Given the description of an element on the screen output the (x, y) to click on. 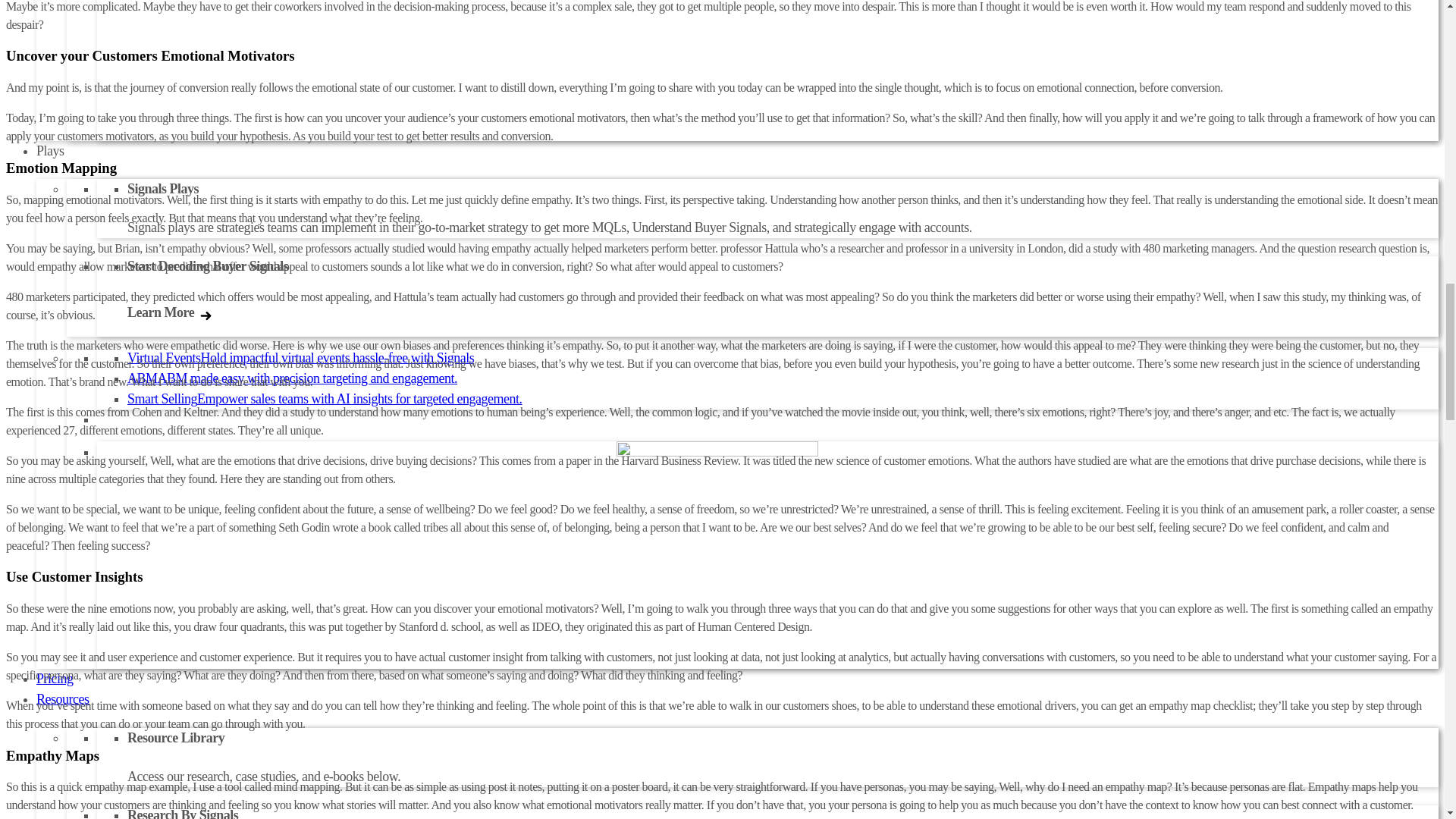
Resources (62, 698)
Plays (50, 150)
ABMABM made easy with precision targeting and engagement. (292, 378)
Pricing (55, 678)
